Given the description of an element on the screen output the (x, y) to click on. 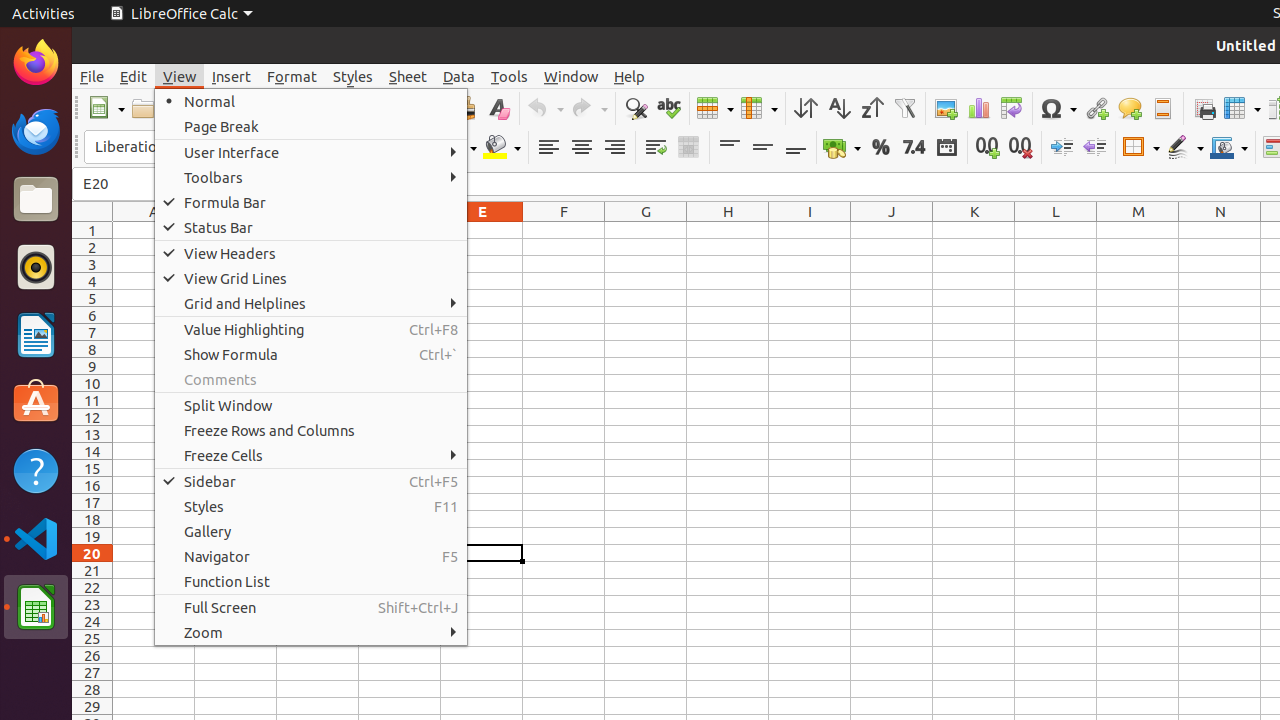
Comments Element type: menu-item (311, 379)
View Element type: menu (179, 76)
Format Element type: menu (292, 76)
Hyperlink Element type: toggle-button (1096, 108)
LibreOffice Calc Element type: push-button (36, 607)
